Given the description of an element on the screen output the (x, y) to click on. 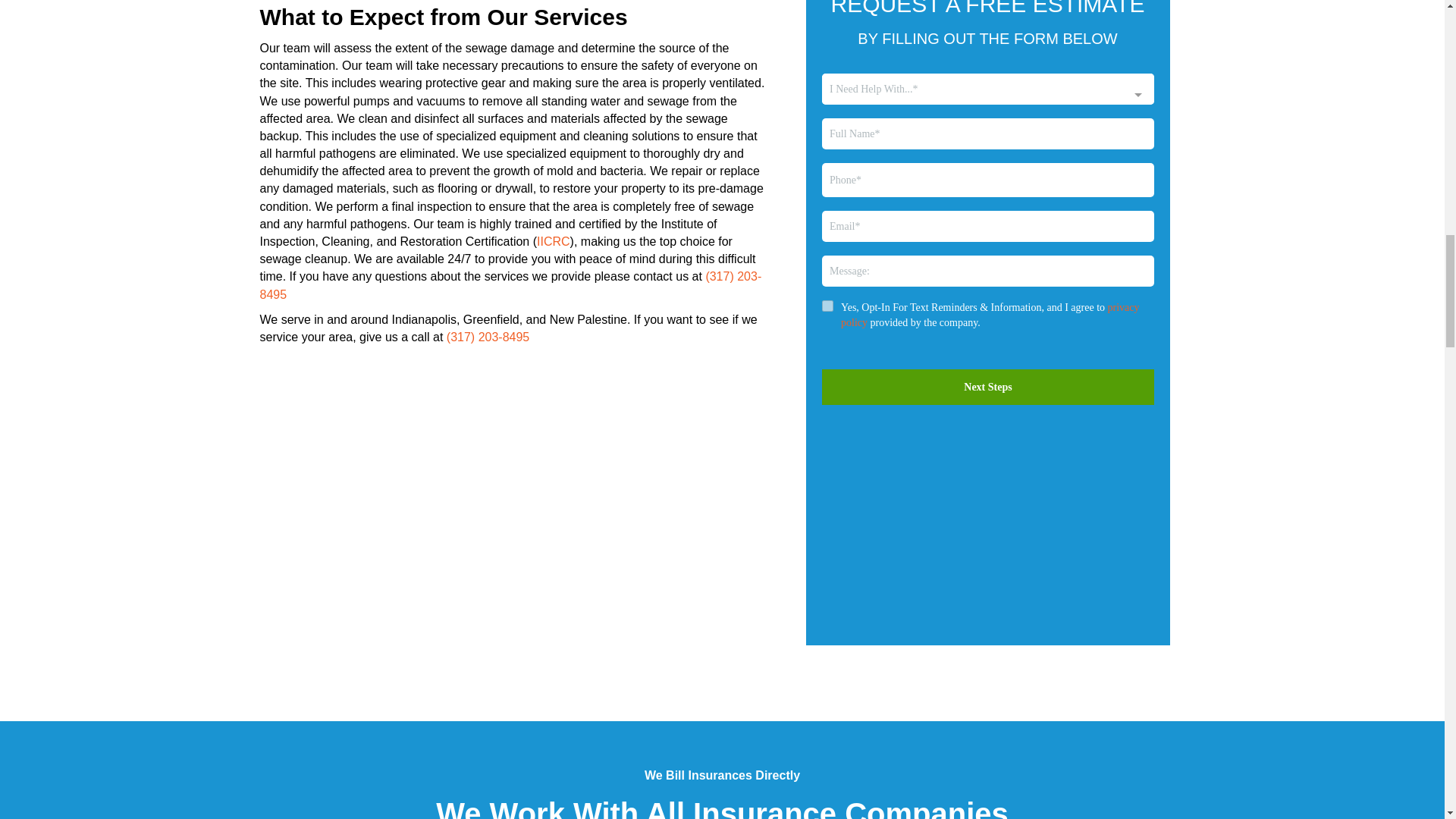
3-steps-white (986, 531)
